Given the description of an element on the screen output the (x, y) to click on. 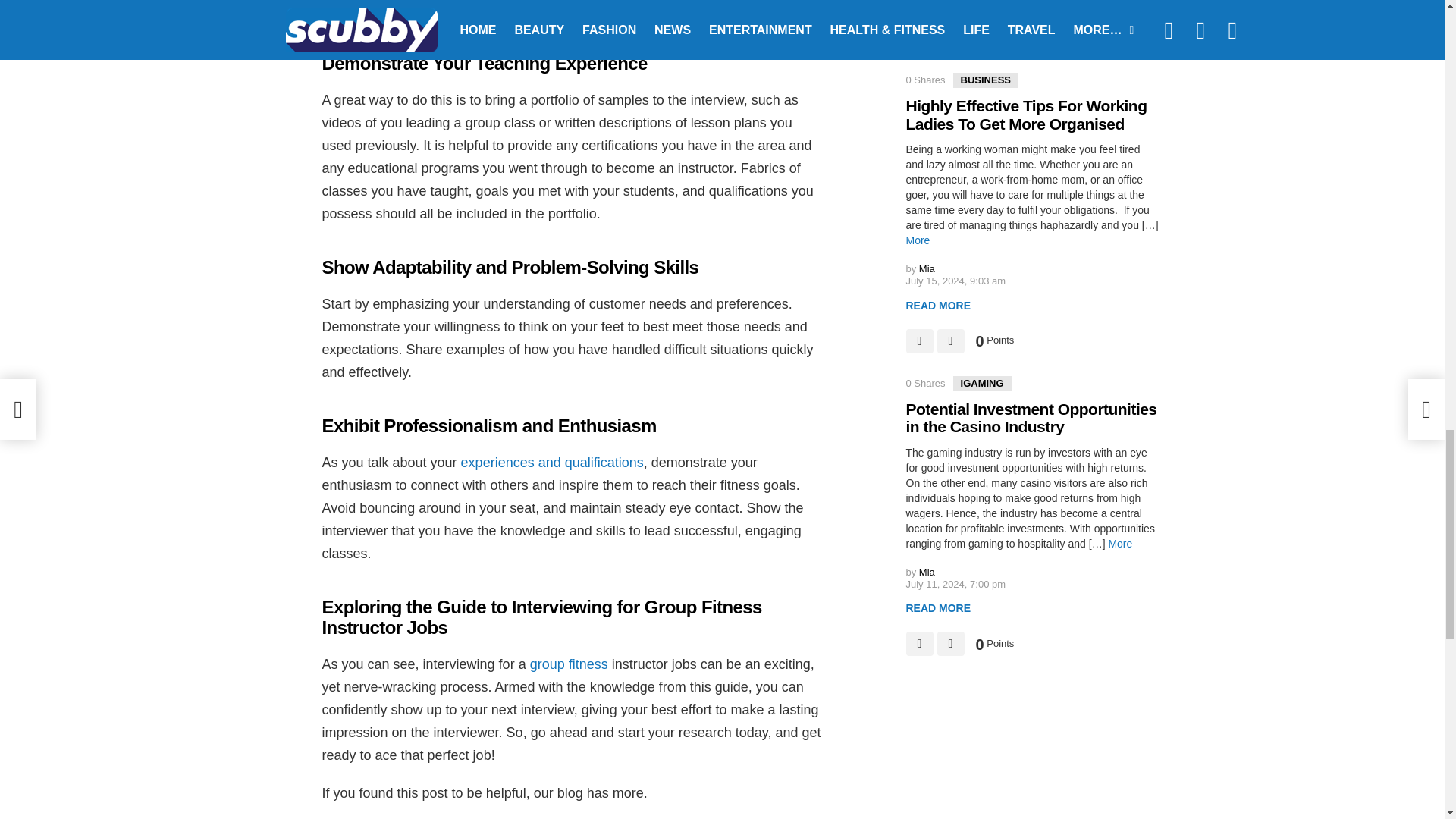
Downvote (950, 37)
Upvote (919, 37)
Posts by Mia (926, 268)
group fitness (568, 663)
Upvote (919, 340)
experiences and qualifications (552, 462)
Downvote (950, 340)
